Given the description of an element on the screen output the (x, y) to click on. 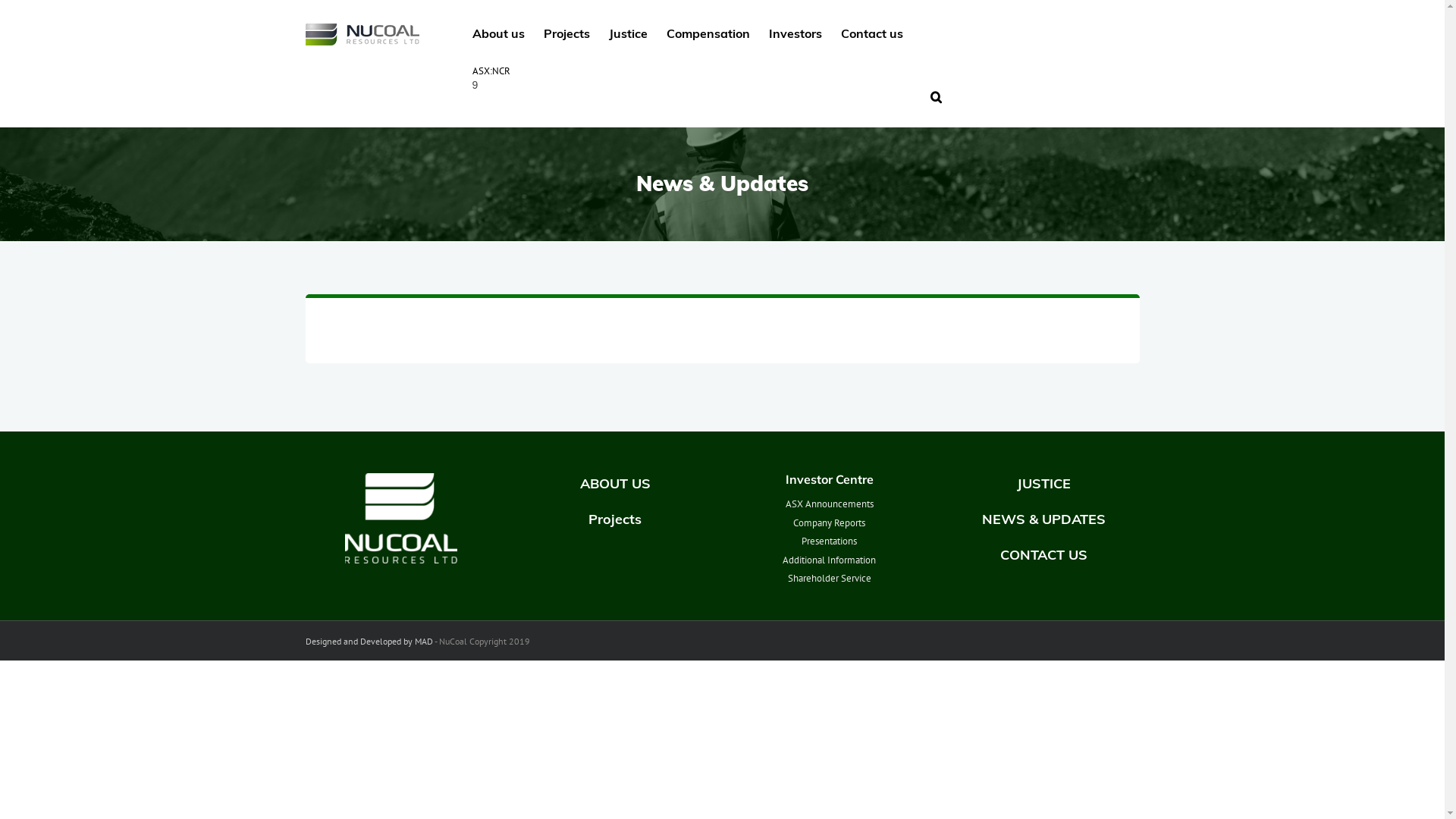
NEWS & UPDATES Element type: text (1043, 518)
Additional Information Element type: text (828, 559)
Compensation Element type: text (707, 31)
Contact us Element type: text (871, 31)
CONTACT US Element type: text (1043, 554)
ABOUT US Element type: text (615, 483)
JUSTICE Element type: text (1043, 483)
Designed and Developed by MAD Element type: text (368, 640)
Projects Element type: text (565, 31)
Search Element type: hover (935, 95)
Justice Element type: text (627, 31)
Presentations Element type: text (828, 540)
Shareholder Service Element type: text (829, 577)
About us Element type: text (497, 31)
Investors Element type: text (795, 31)
ASX Announcements Element type: text (829, 503)
Projects Element type: text (615, 518)
Company Reports Element type: text (829, 521)
